Given the description of an element on the screen output the (x, y) to click on. 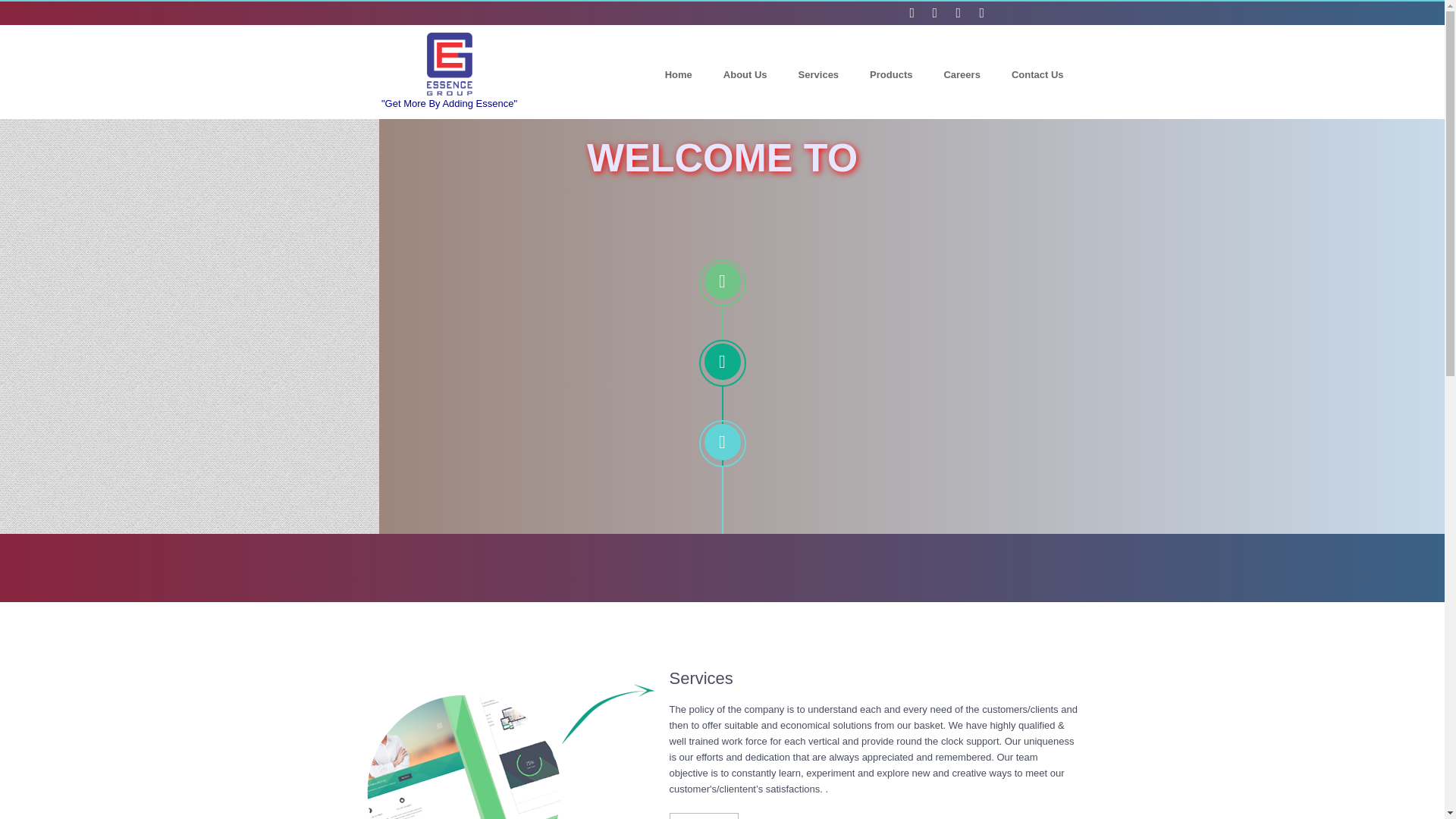
Read More (703, 816)
Contact Us (1036, 74)
Satisfation (34, 399)
Customer (32, 319)
"Get More By Adding Essence" (448, 71)
